Given the description of an element on the screen output the (x, y) to click on. 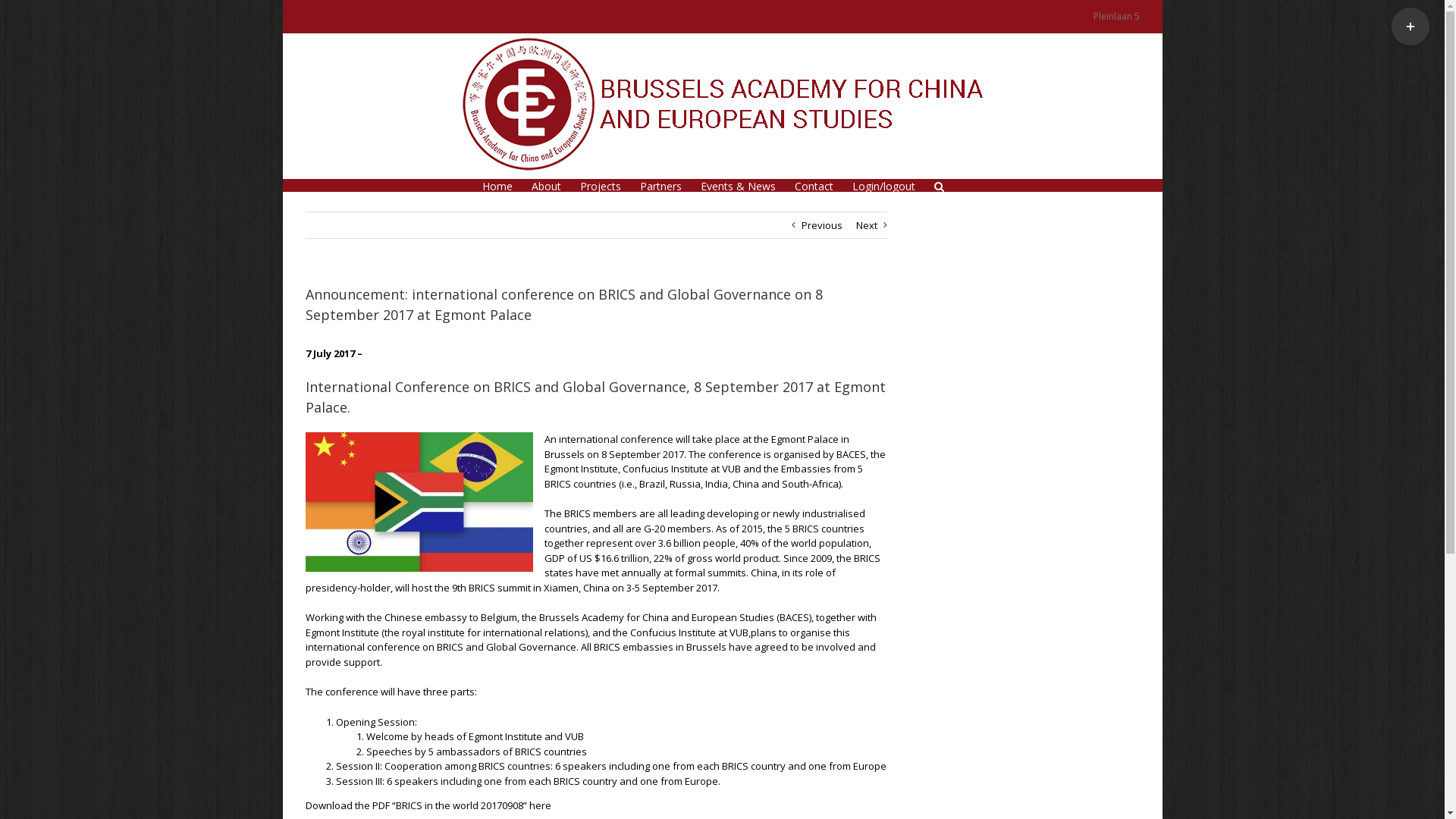
Events & News Element type: text (737, 184)
Contact Element type: text (813, 184)
About Element type: text (545, 184)
Search Element type: hover (939, 184)
Projects Element type: text (599, 184)
Previous Element type: text (820, 225)
Partners Element type: text (660, 184)
Home Element type: text (497, 184)
Login/logout Element type: text (883, 184)
Next Element type: text (865, 225)
Toggle Sliding Bar Area Element type: text (1410, 26)
